Given the description of an element on the screen output the (x, y) to click on. 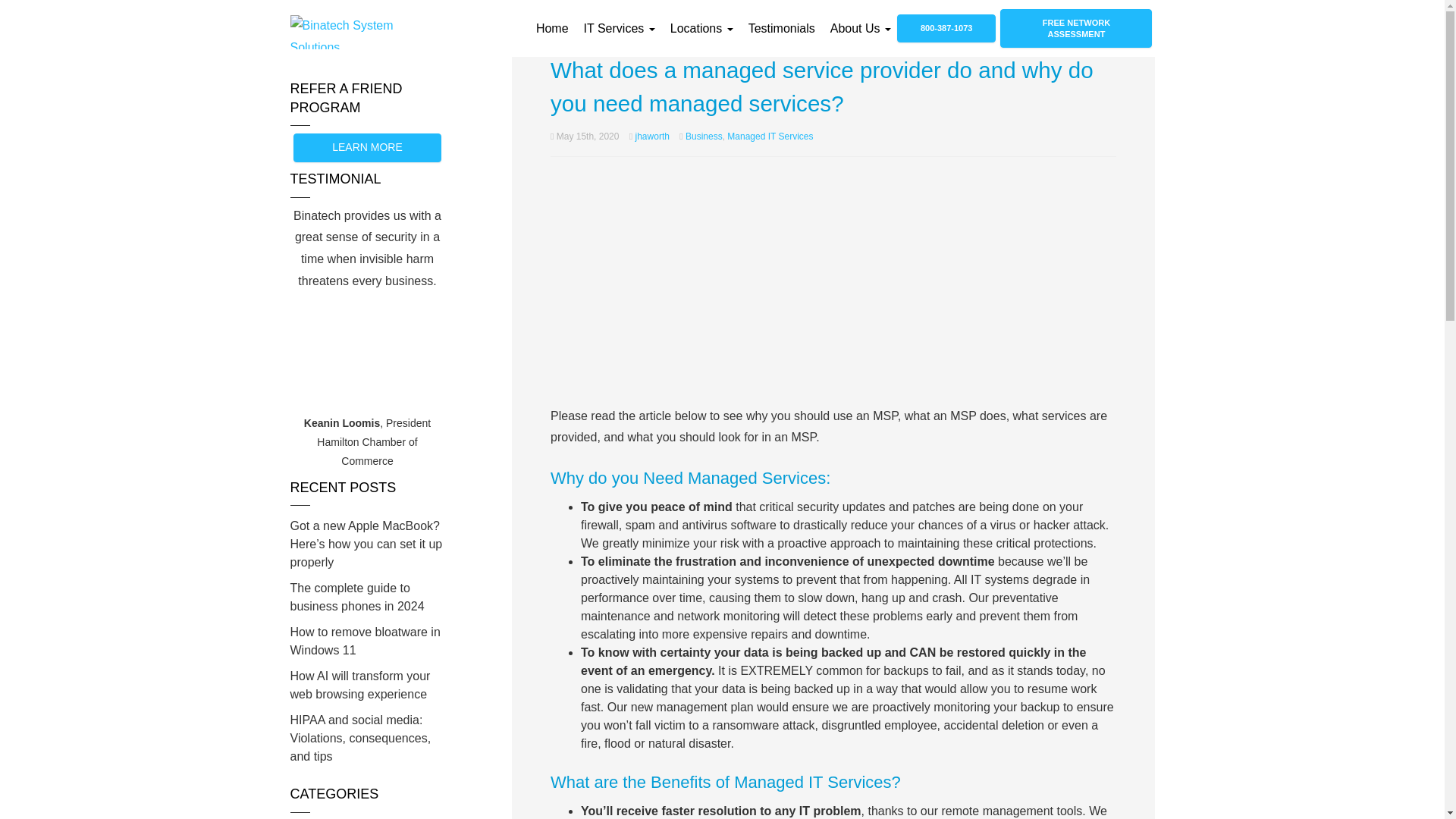
Posts by jhaworth (651, 136)
Testimonials (781, 28)
Locations (701, 28)
Home (552, 28)
About Us (861, 28)
800-387-1073 (945, 28)
FREE NETWORK ASSESSMENT (1075, 28)
IT Services (619, 28)
